Given the description of an element on the screen output the (x, y) to click on. 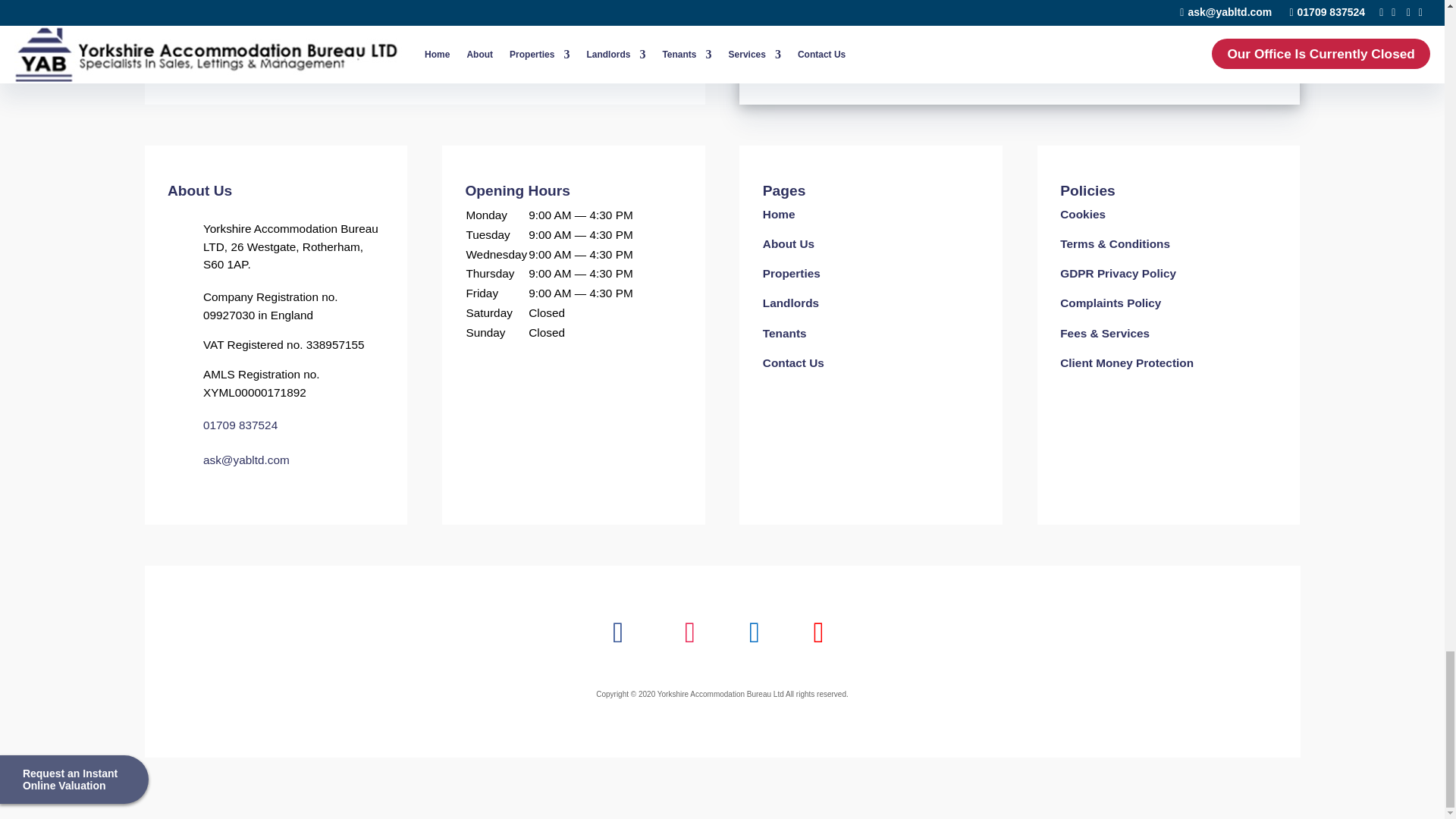
Follow on Youtube (818, 632)
Follow on X (754, 632)
Follow on Instagram (690, 632)
Follow on Facebook (618, 632)
